Given the description of an element on the screen output the (x, y) to click on. 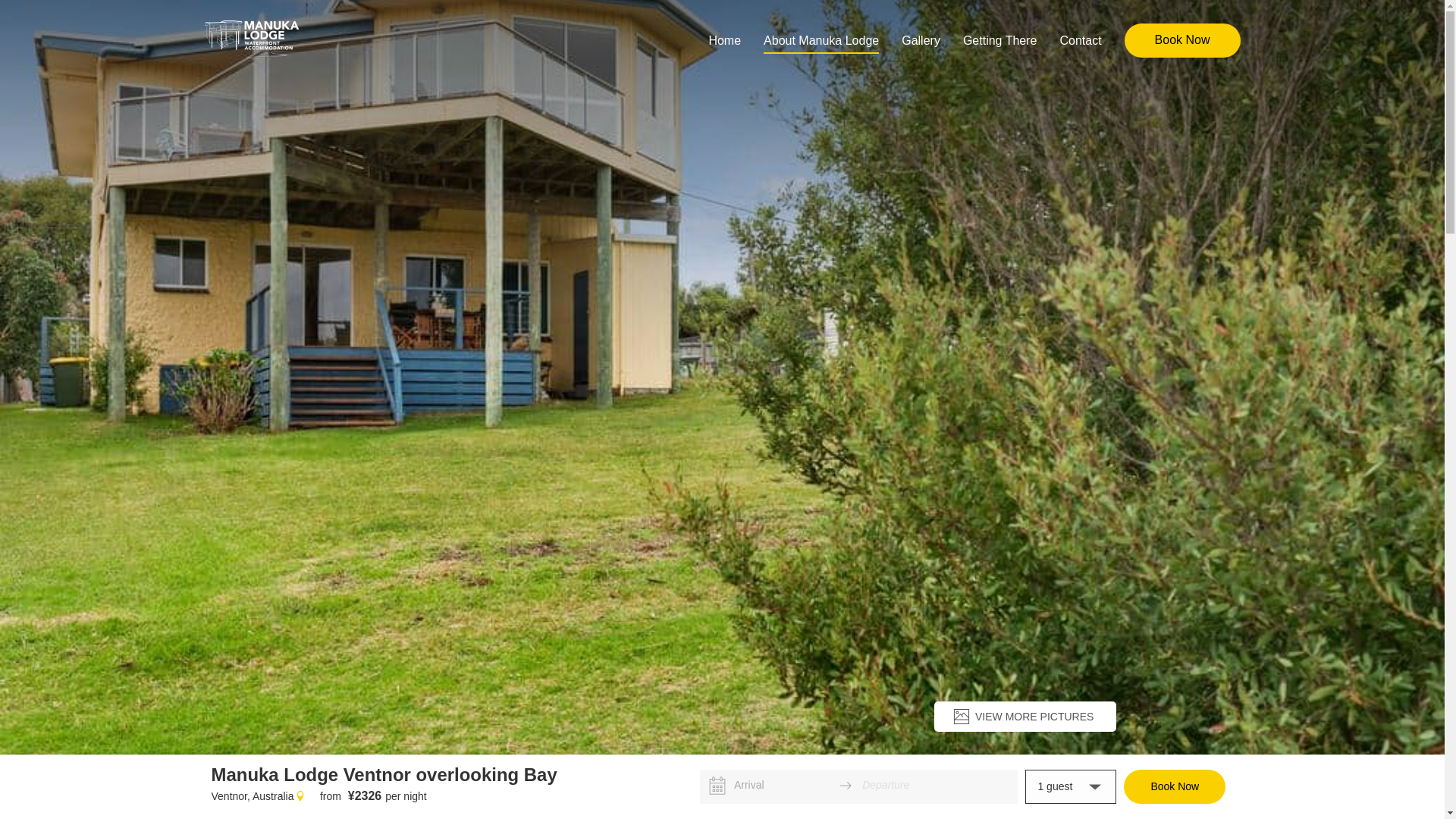
Home Element type: text (724, 39)
Description Element type: text (365, 776)
Book Now Element type: text (1182, 40)
Amenities Element type: text (503, 776)
Getting There Element type: text (1000, 39)
Gallery Element type: text (920, 39)
VIEW MORE PICTURES Element type: text (1025, 716)
Pictures Element type: text (436, 776)
Contact Element type: text (1080, 39)
About Manuka Lodge Element type: text (820, 39)
Book Now Element type: text (1174, 786)
Image Title Element type: hover (251, 40)
Image Title Element type: hover (722, 377)
